Given the description of an element on the screen output the (x, y) to click on. 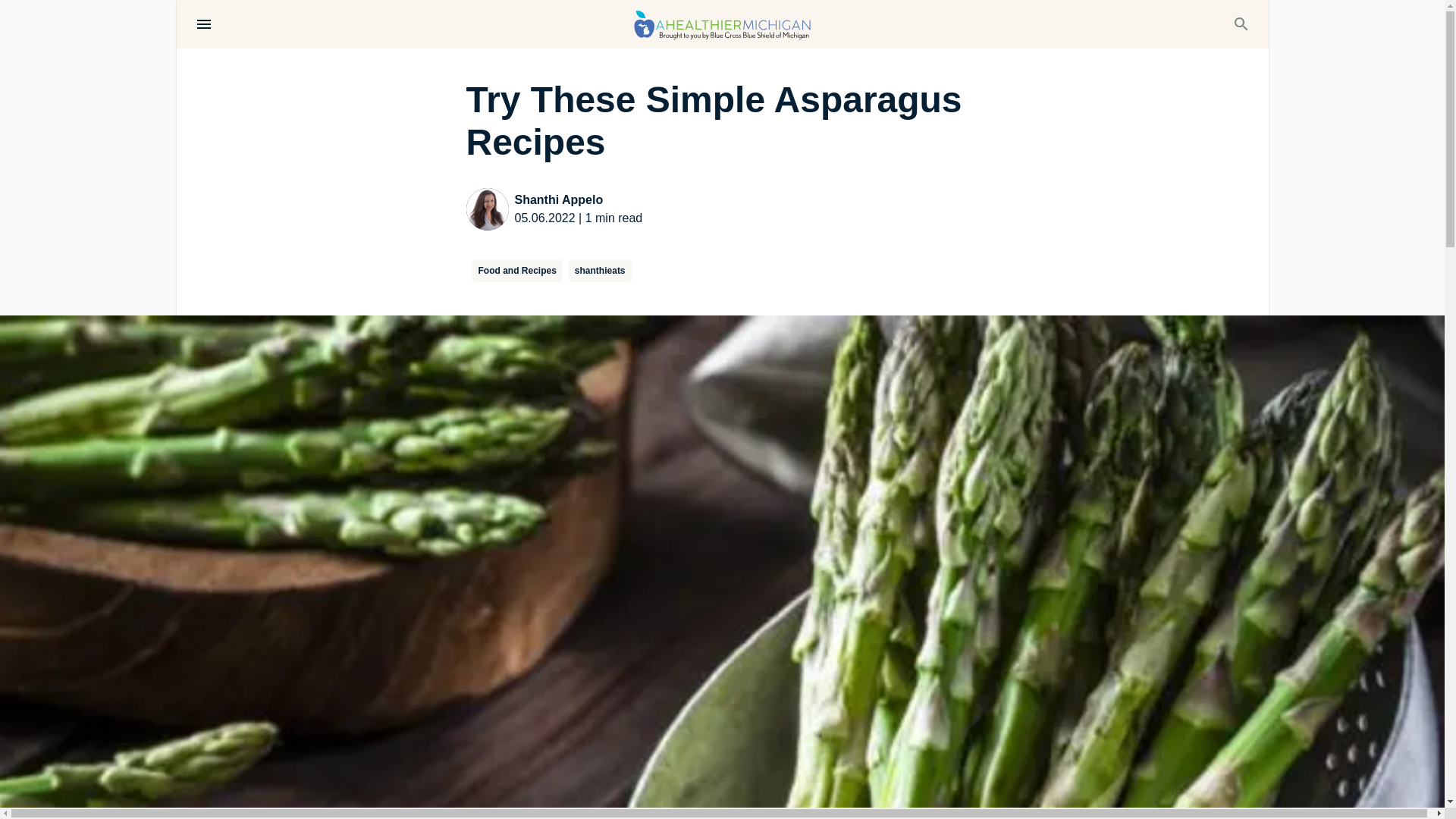
Shanthi Appelo (577, 199)
shanthieats (600, 270)
Food and Recipes (516, 270)
